Given the description of an element on the screen output the (x, y) to click on. 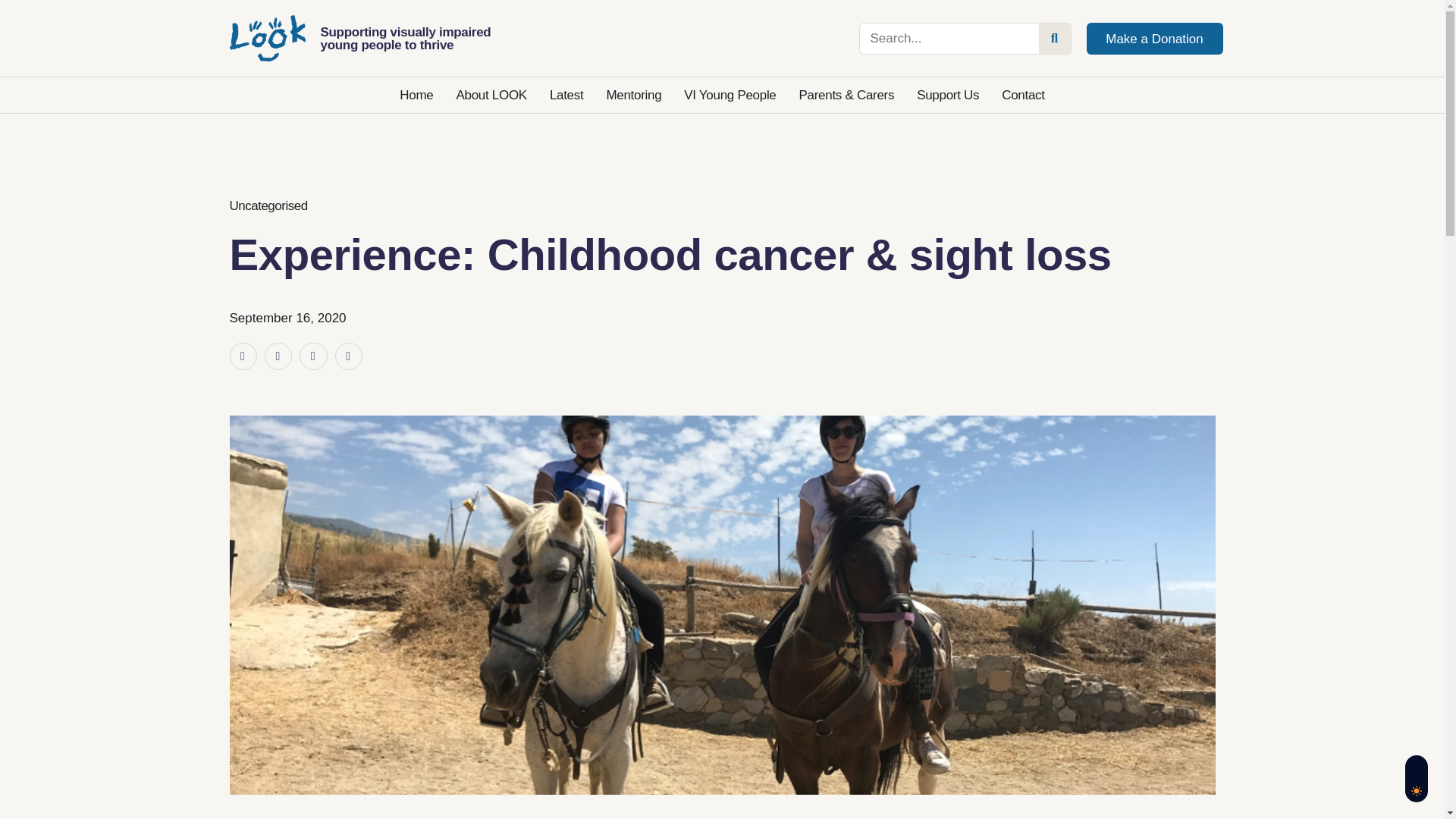
About LOOK (490, 95)
VI Young People (730, 95)
Latest (566, 95)
Contact (1023, 95)
Make a Donation (1154, 38)
Mentoring (633, 95)
Support Us (947, 95)
Home (415, 95)
